Given the description of an element on the screen output the (x, y) to click on. 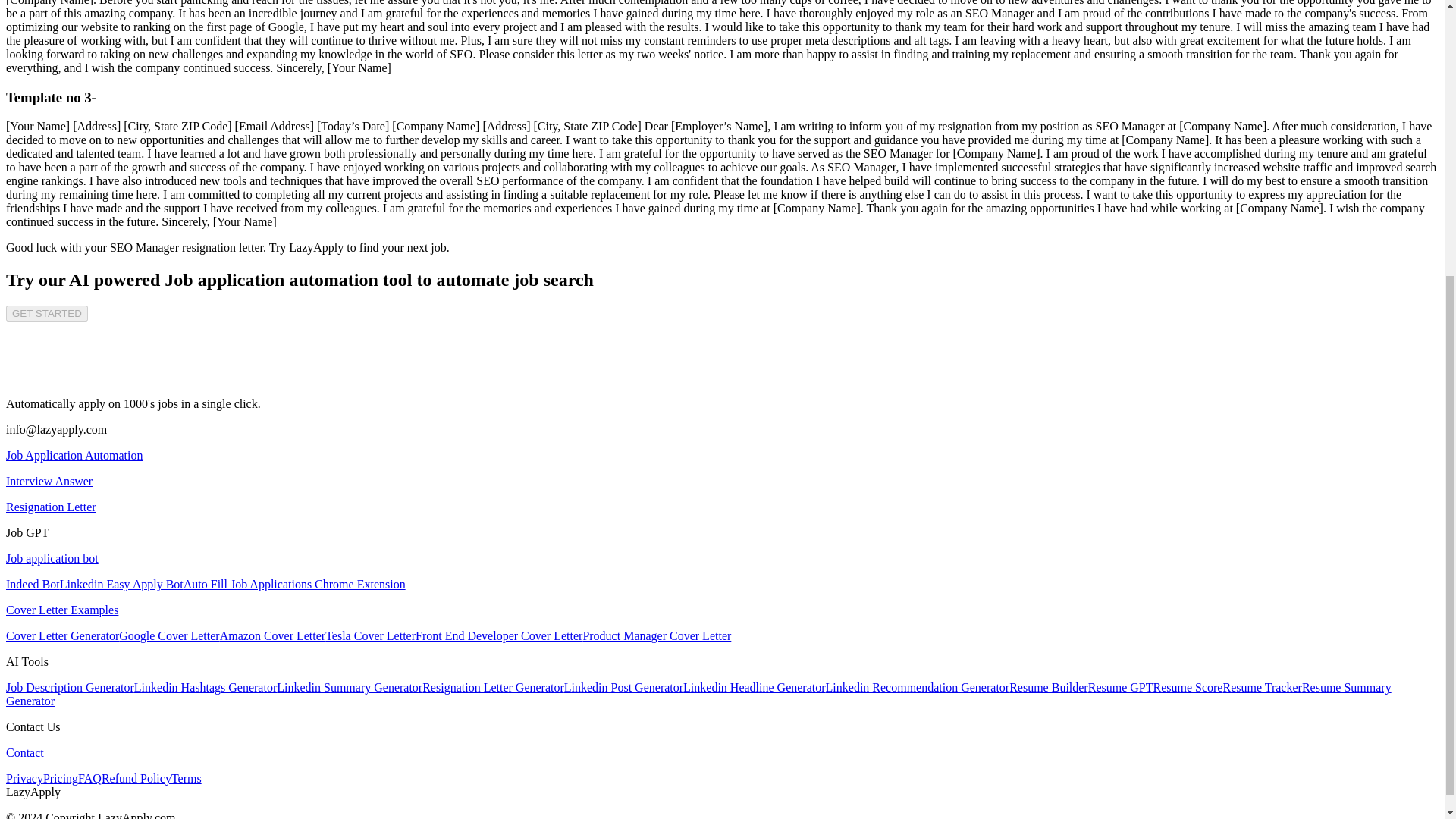
Linkedin Summary Generator (349, 686)
Product Manager Cover Letter (656, 635)
Job application bot (52, 558)
Linkedin Headline Generator (753, 686)
Refund Policy (136, 778)
Linkedin Recommendation Generator (917, 686)
Pricing (60, 778)
Resignation Letter Generator (493, 686)
Linkedin Hashtags Generator (204, 686)
Google Cover Letter (169, 635)
Contact (24, 752)
Resignation Letter (50, 506)
Linkedin Post Generator (623, 686)
Indeed Bot (32, 584)
Resume Tracker (1262, 686)
